Given the description of an element on the screen output the (x, y) to click on. 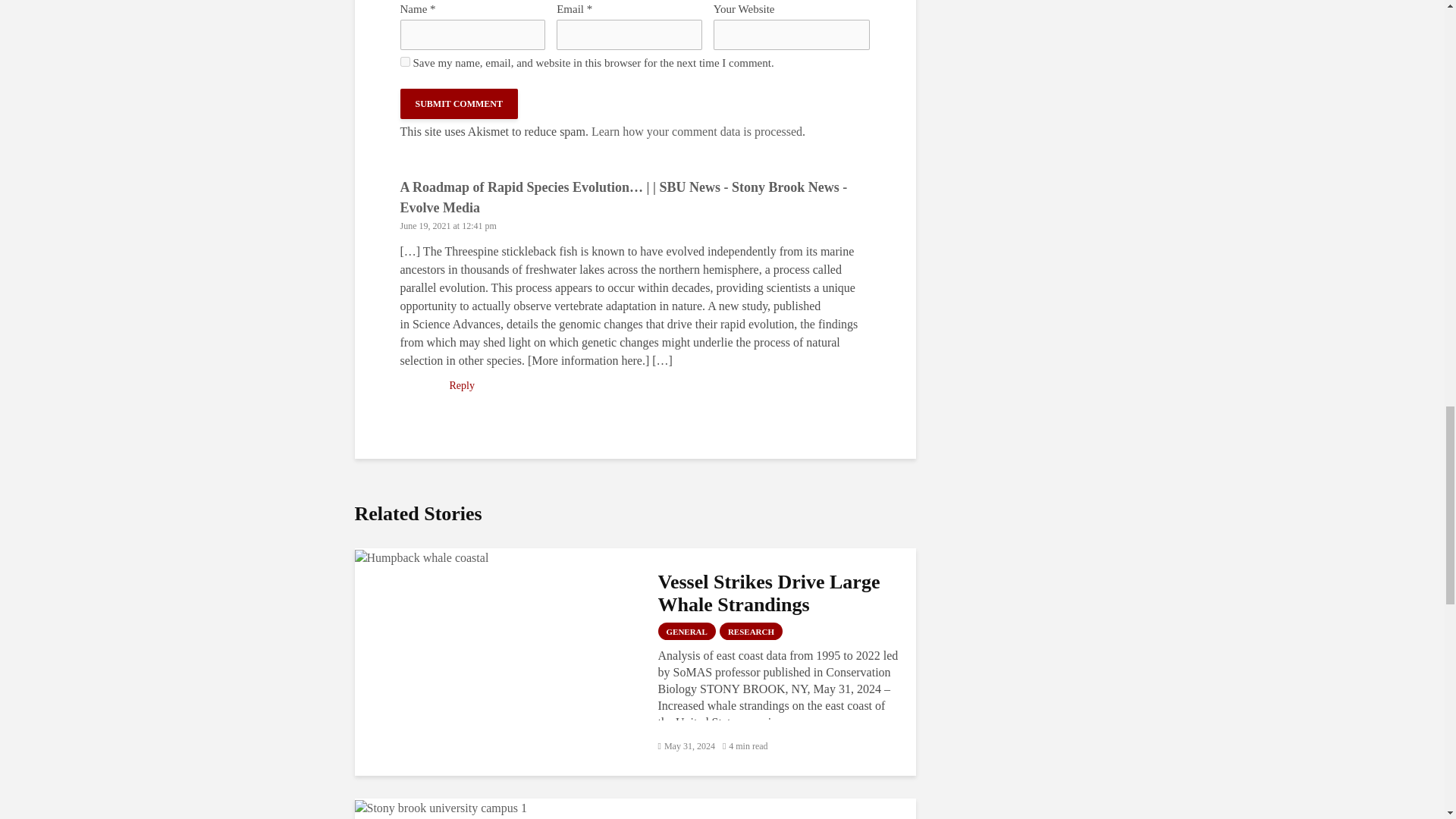
yes (405, 61)
Submit Comment (459, 103)
Vessel Strikes Drive Large Whale Strandings (422, 555)
